Given the description of an element on the screen output the (x, y) to click on. 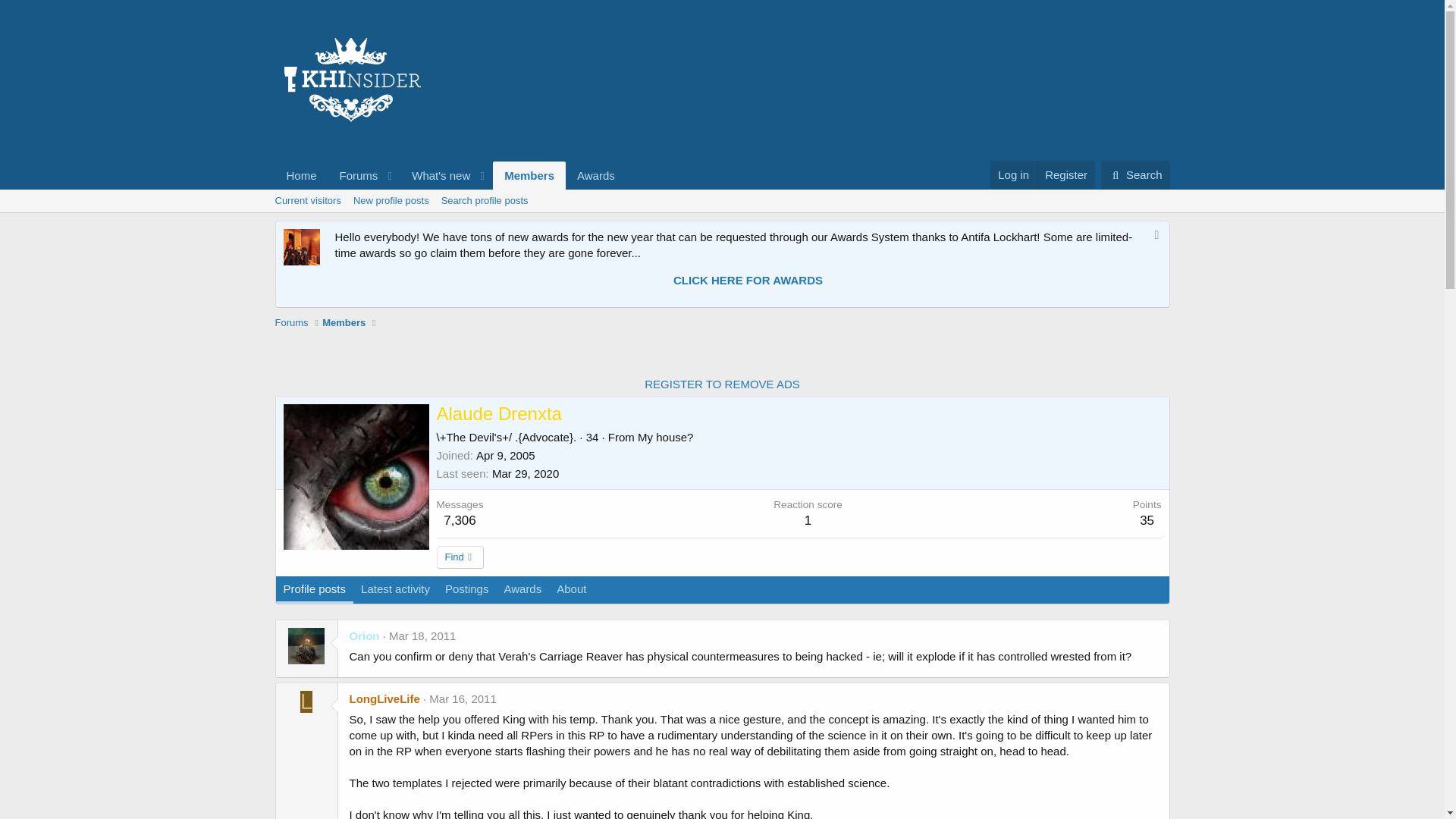
Search profile posts (449, 175)
Mar 16, 2011 at 10:29 PM (484, 200)
Forums (462, 698)
What's new (354, 175)
New profile posts (435, 175)
Profile posts Latest activity Postings Awards About (391, 200)
REGISTER TO REMOVE ADS (435, 607)
Log in (722, 383)
Members (1013, 174)
